Given the description of an element on the screen output the (x, y) to click on. 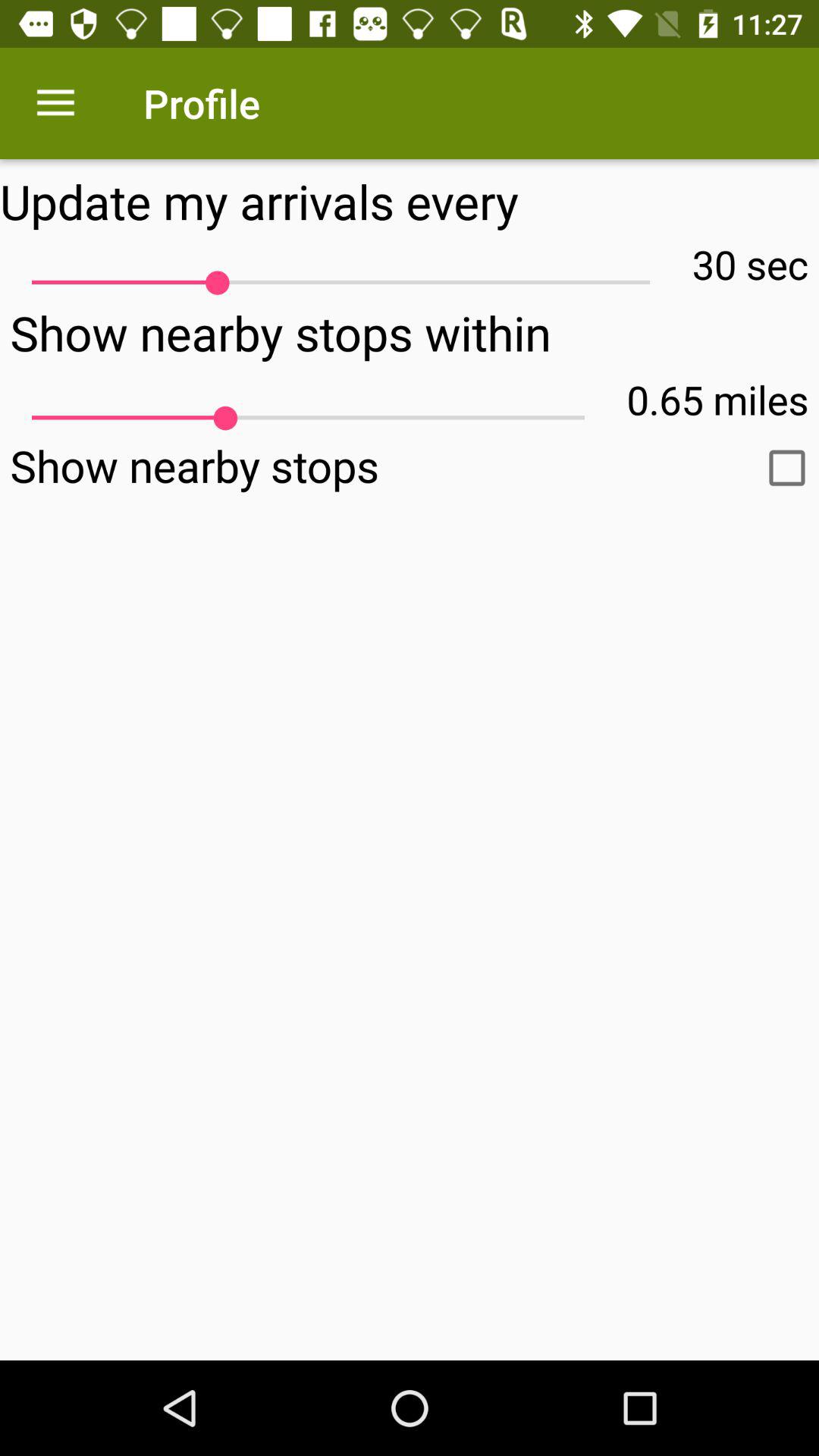
toggle show nearby stops (787, 467)
